Given the description of an element on the screen output the (x, y) to click on. 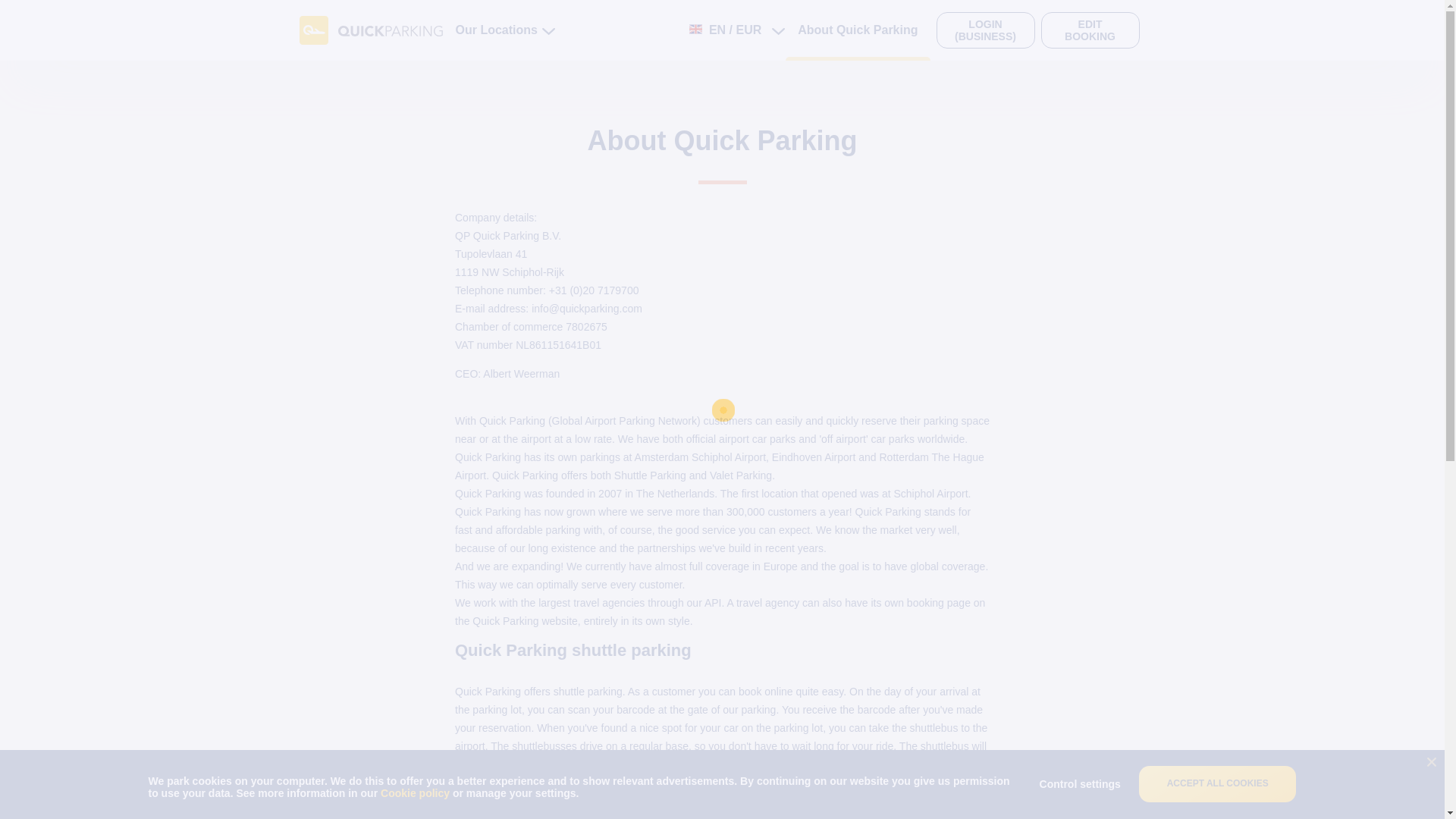
EDIT BOOKING (1089, 30)
flag (694, 29)
Cookie policy (416, 793)
About Quick Parking (858, 29)
ACCEPT ALL COOKIES (1217, 783)
Parking near European airports - Quick Parking (370, 30)
